Given the description of an element on the screen output the (x, y) to click on. 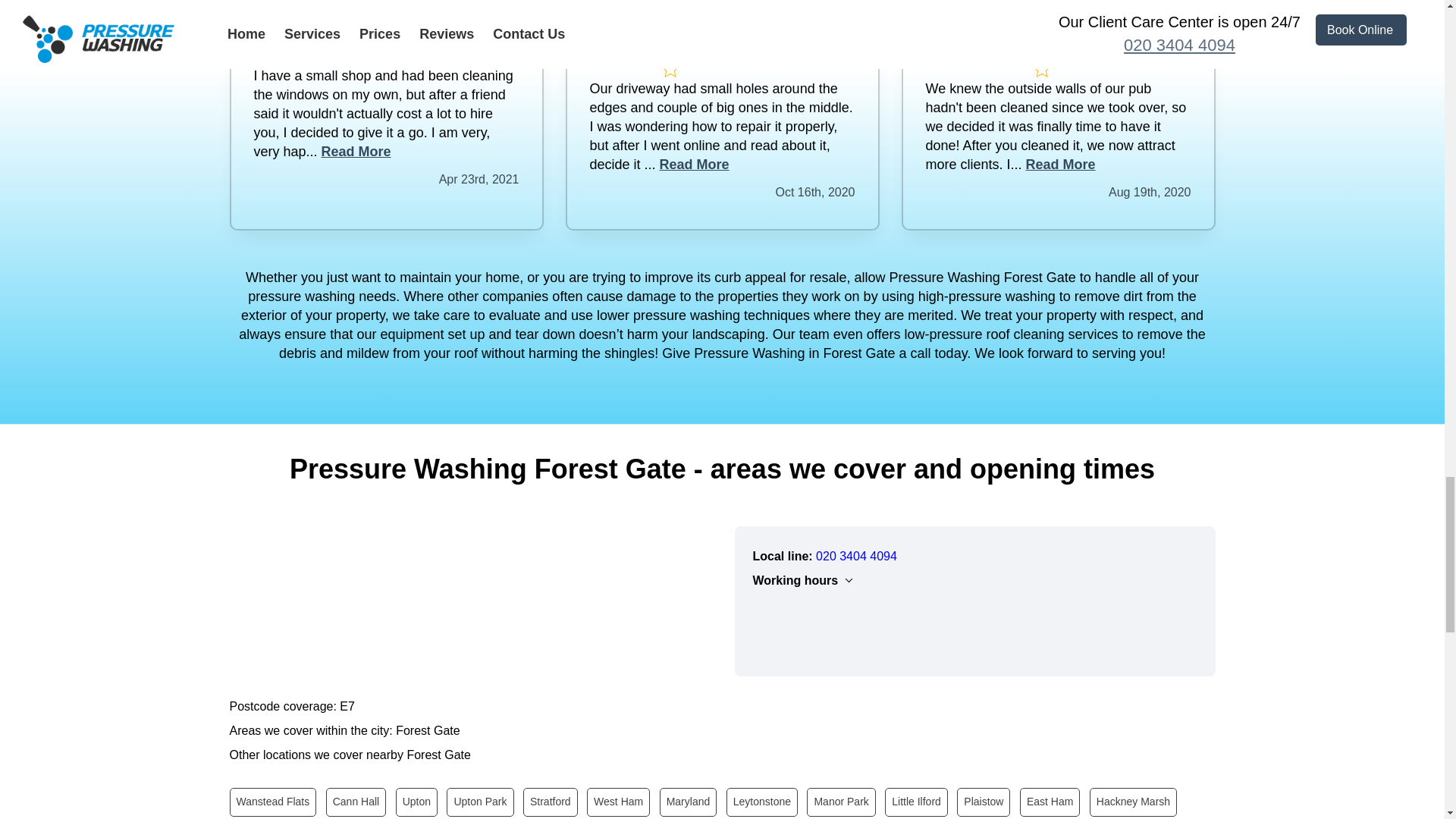
Stratford (550, 801)
Upton (417, 801)
Stratford (550, 801)
Manor Park (840, 801)
Forest Gate map location (469, 600)
Leytonstone (761, 801)
Maryland (688, 801)
Upton (417, 801)
Little Ilford (916, 801)
West Ham (617, 801)
